Given the description of an element on the screen output the (x, y) to click on. 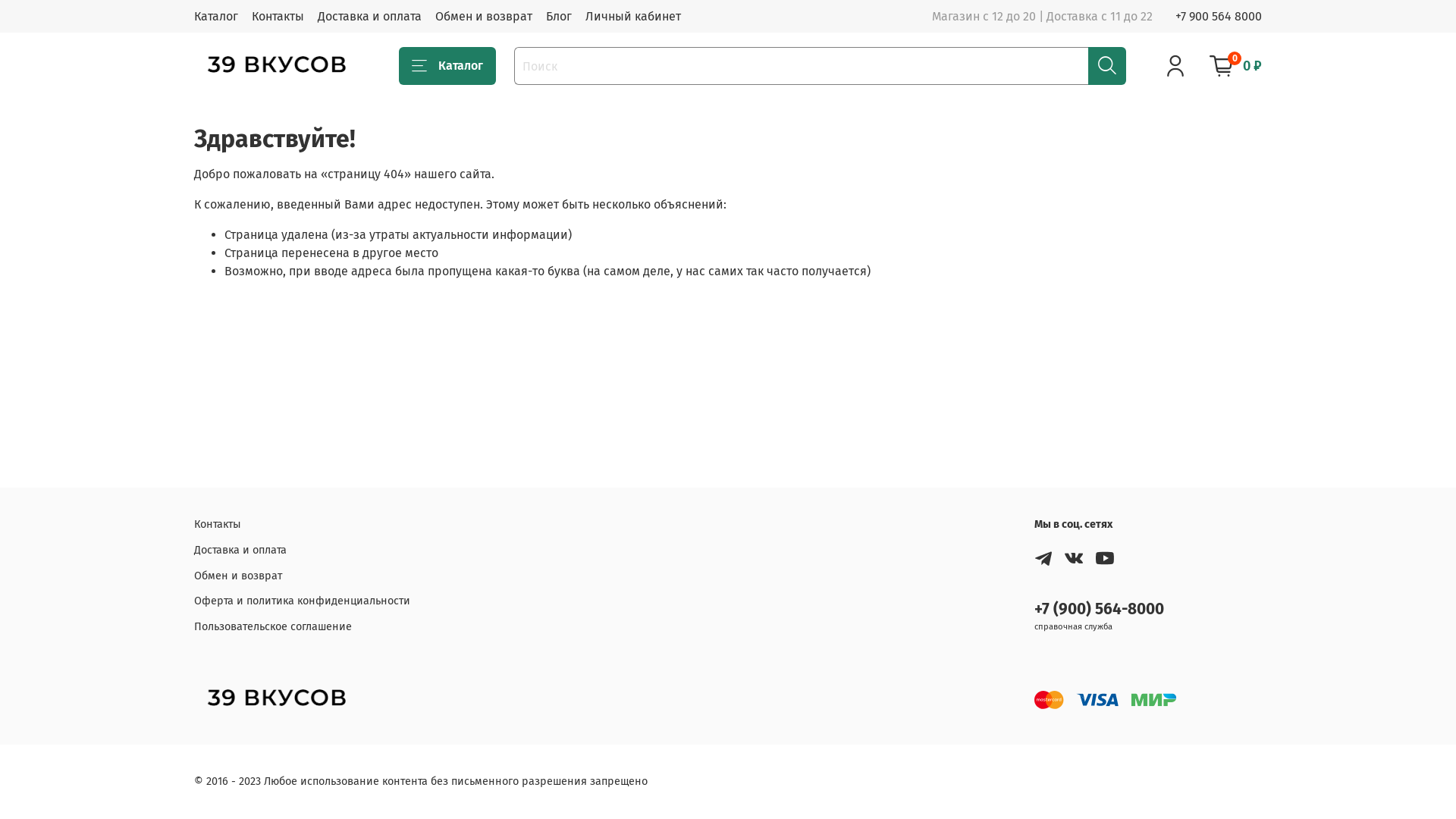
+7 900 564 8000 Element type: text (1218, 16)
+7 (900) 564-8000 Element type: text (1099, 608)
